Given the description of an element on the screen output the (x, y) to click on. 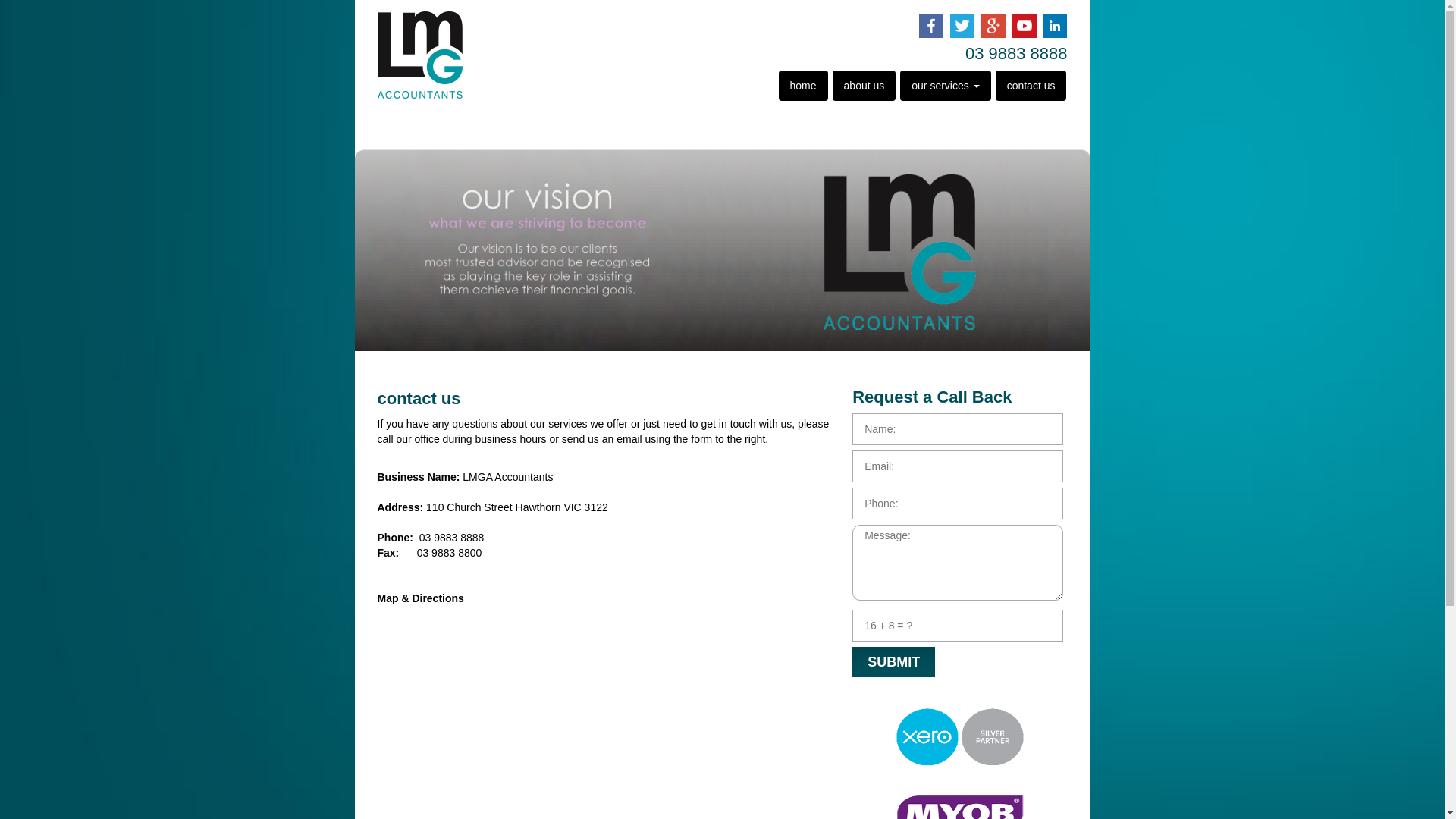
home Element type: text (803, 85)
our services Element type: text (945, 85)
SUBMIT Element type: text (893, 661)
about us Element type: text (864, 85)
contact us Element type: text (1030, 85)
